Given the description of an element on the screen output the (x, y) to click on. 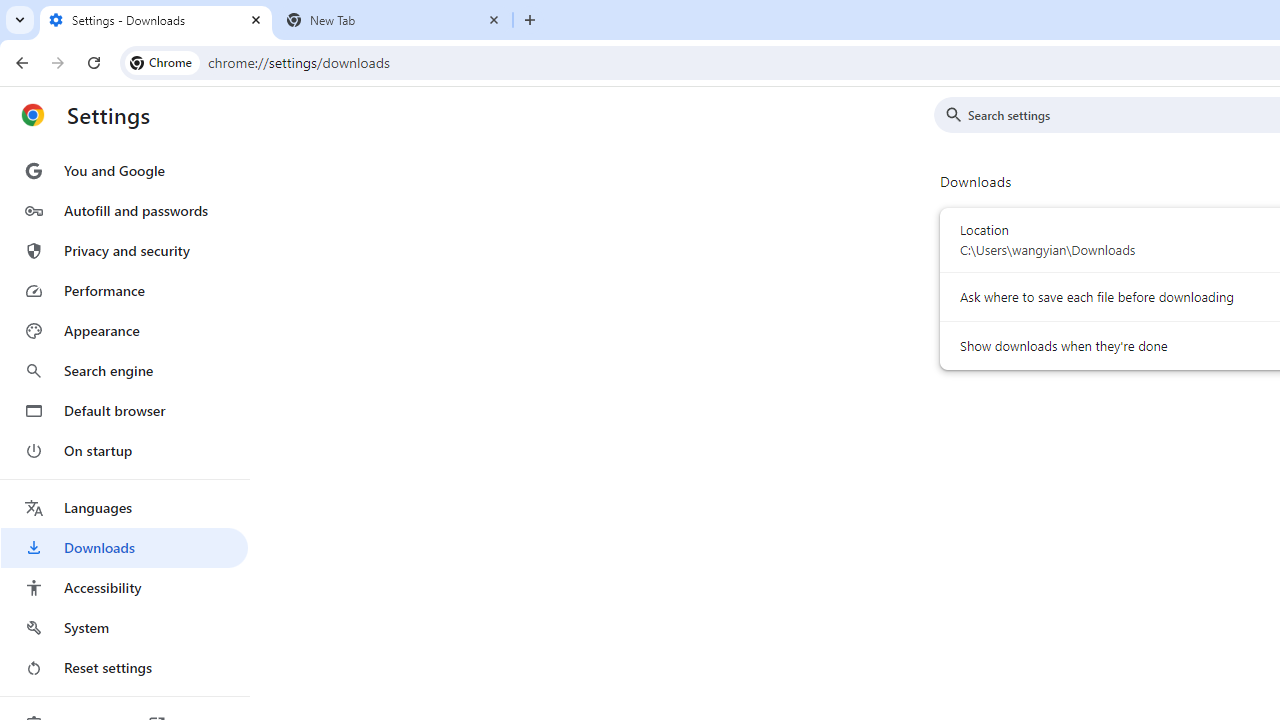
Appearance (124, 331)
Accessibility (124, 587)
New Tab (394, 20)
Reset settings (124, 668)
Performance (124, 290)
